Given the description of an element on the screen output the (x, y) to click on. 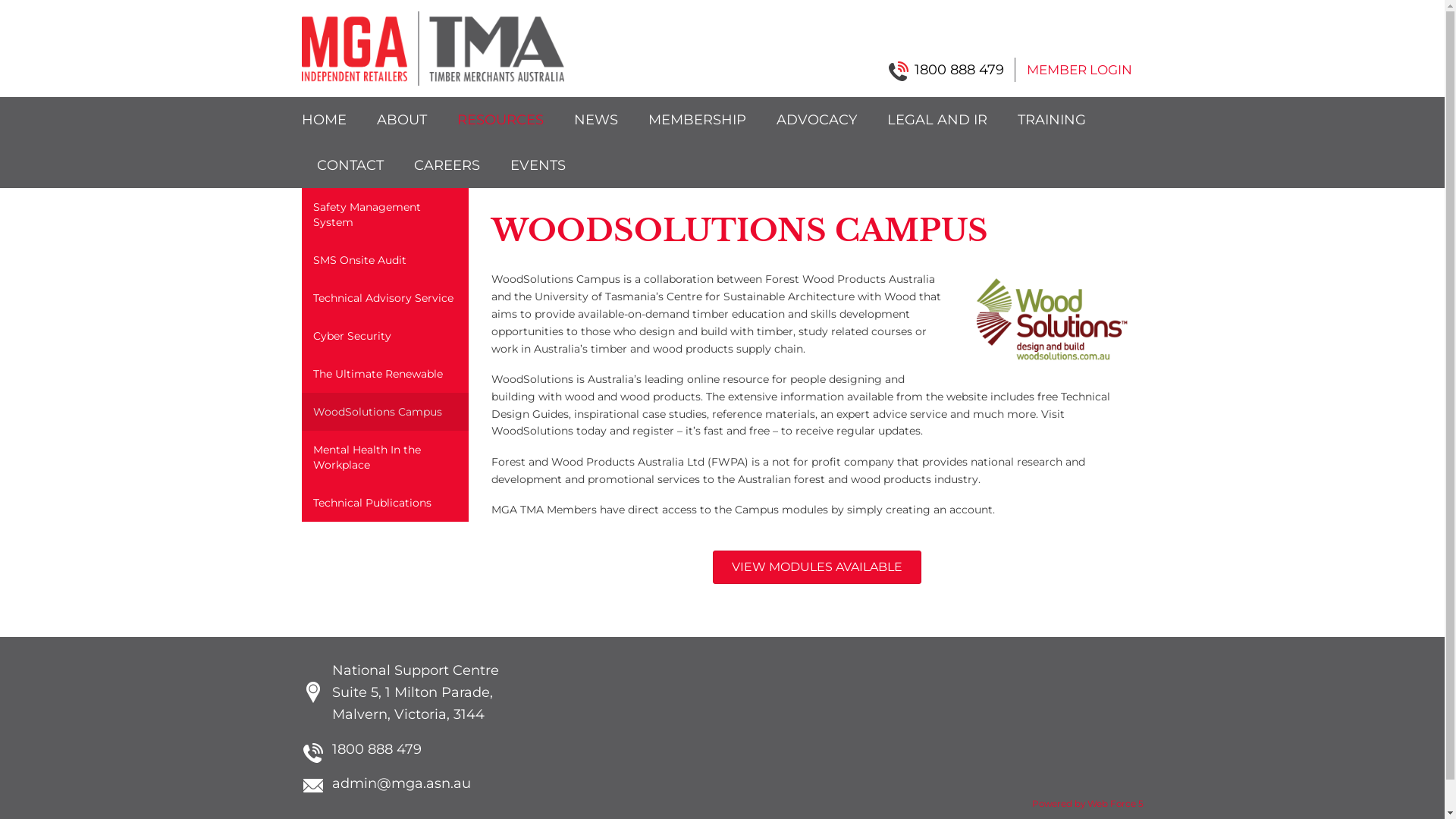
MEMBER LOGIN Element type: text (1078, 69)
RESOURCES Element type: text (499, 119)
CONTACT Element type: text (349, 165)
TRAINING Element type: text (1051, 119)
CAREERS Element type: text (446, 165)
1800 888 479 Element type: text (951, 69)
Technical Advisory Service Element type: text (384, 297)
The Ultimate Renewable Element type: text (384, 373)
VIEW MODULES AVAILABLE Element type: text (816, 566)
NEWS Element type: text (595, 119)
LEGAL AND IR Element type: text (937, 119)
ABOUT Element type: text (400, 119)
admin@mga.asn.au Element type: text (385, 783)
HOME Element type: text (331, 119)
Mental Health In the Workplace Element type: text (384, 456)
Powered by Web Force 5 Element type: text (1086, 802)
1800 888 479 Element type: text (361, 749)
ADVOCACY Element type: text (816, 119)
Cyber Security Element type: text (384, 335)
EVENTS Element type: text (537, 165)
SMS Onsite Audit Element type: text (384, 260)
WoodSolutions Campus Element type: text (384, 411)
MEMBERSHIP Element type: text (696, 119)
Safety Management System Element type: text (384, 214)
Technical Publications Element type: text (384, 502)
